Given the description of an element on the screen output the (x, y) to click on. 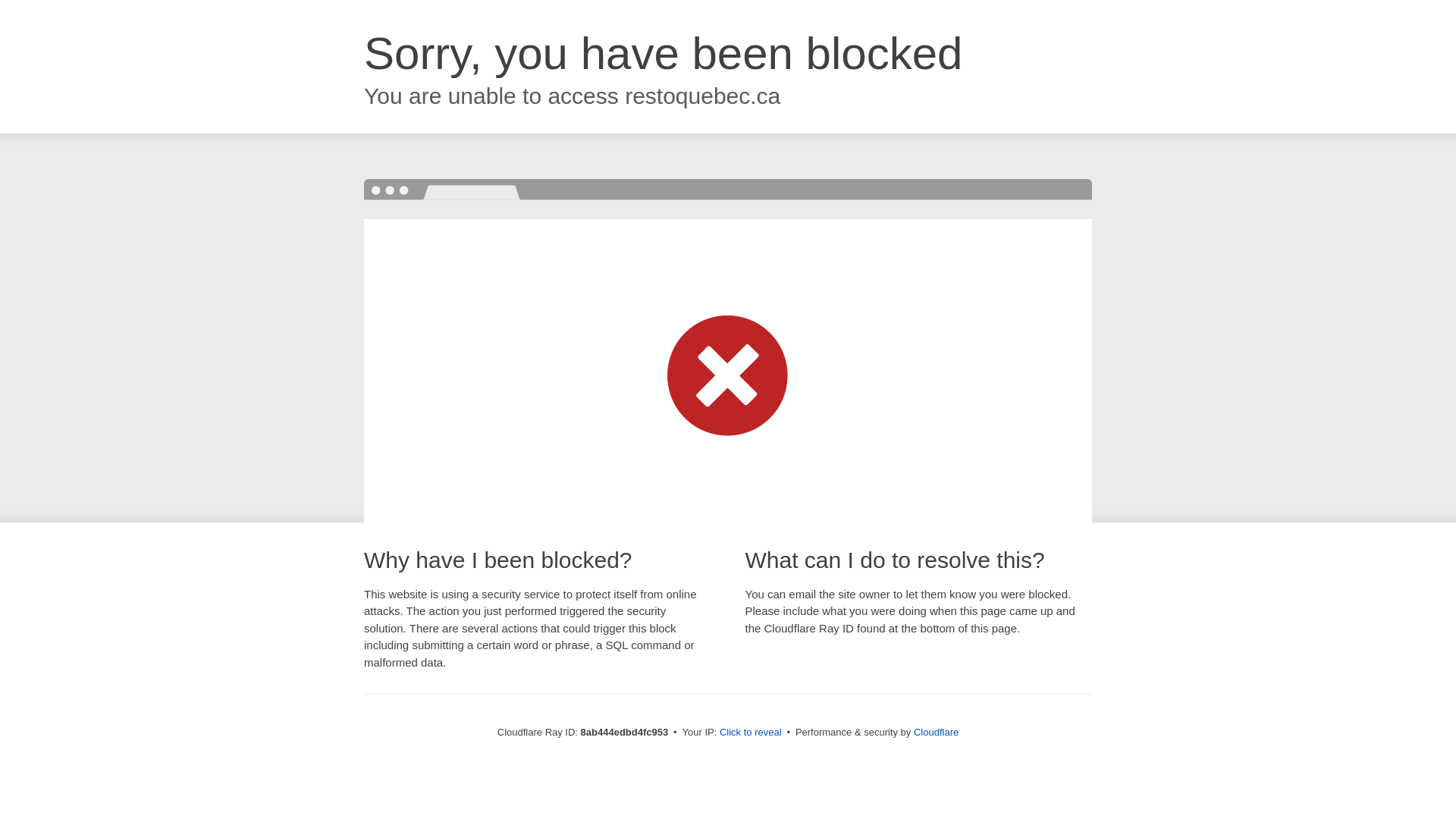
Click to reveal (750, 732)
Cloudflare (936, 731)
